Given the description of an element on the screen output the (x, y) to click on. 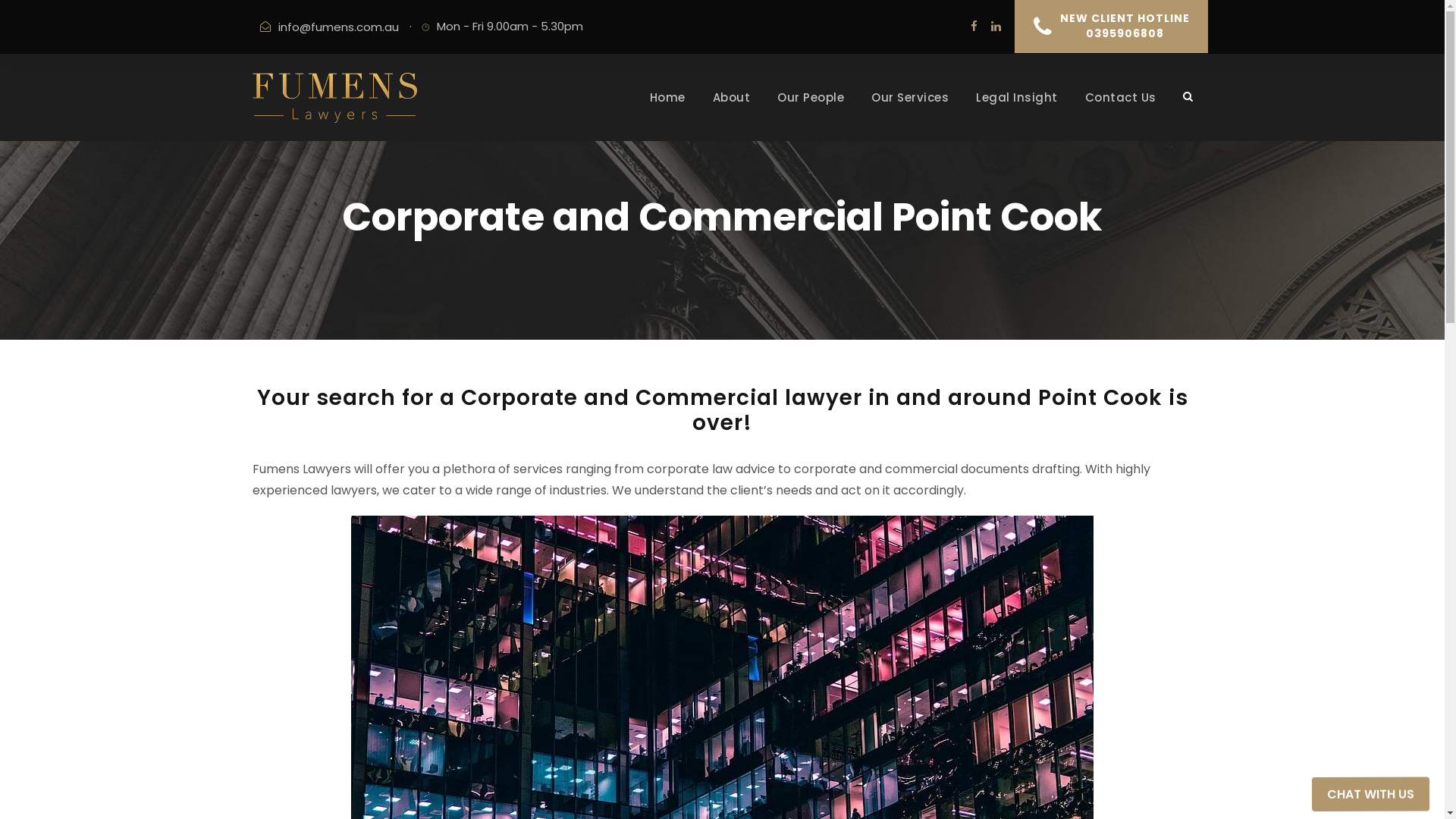
Our People Element type: text (810, 114)
Contact Us Element type: text (1119, 114)
About Element type: text (731, 114)
Legal Insight Element type: text (1016, 114)
CHAT WITH US Element type: text (1369, 788)
info@fumens.com.au Element type: text (337, 26)
facebook Element type: hover (973, 26)
FUMENS-textlogo Element type: hover (333, 97)
Home Element type: text (666, 114)
linkedin Element type: hover (995, 26)
NEW CLIENT HOTLINE
0395906808 Element type: text (1111, 26)
Our Services Element type: text (909, 114)
